Given the description of an element on the screen output the (x, y) to click on. 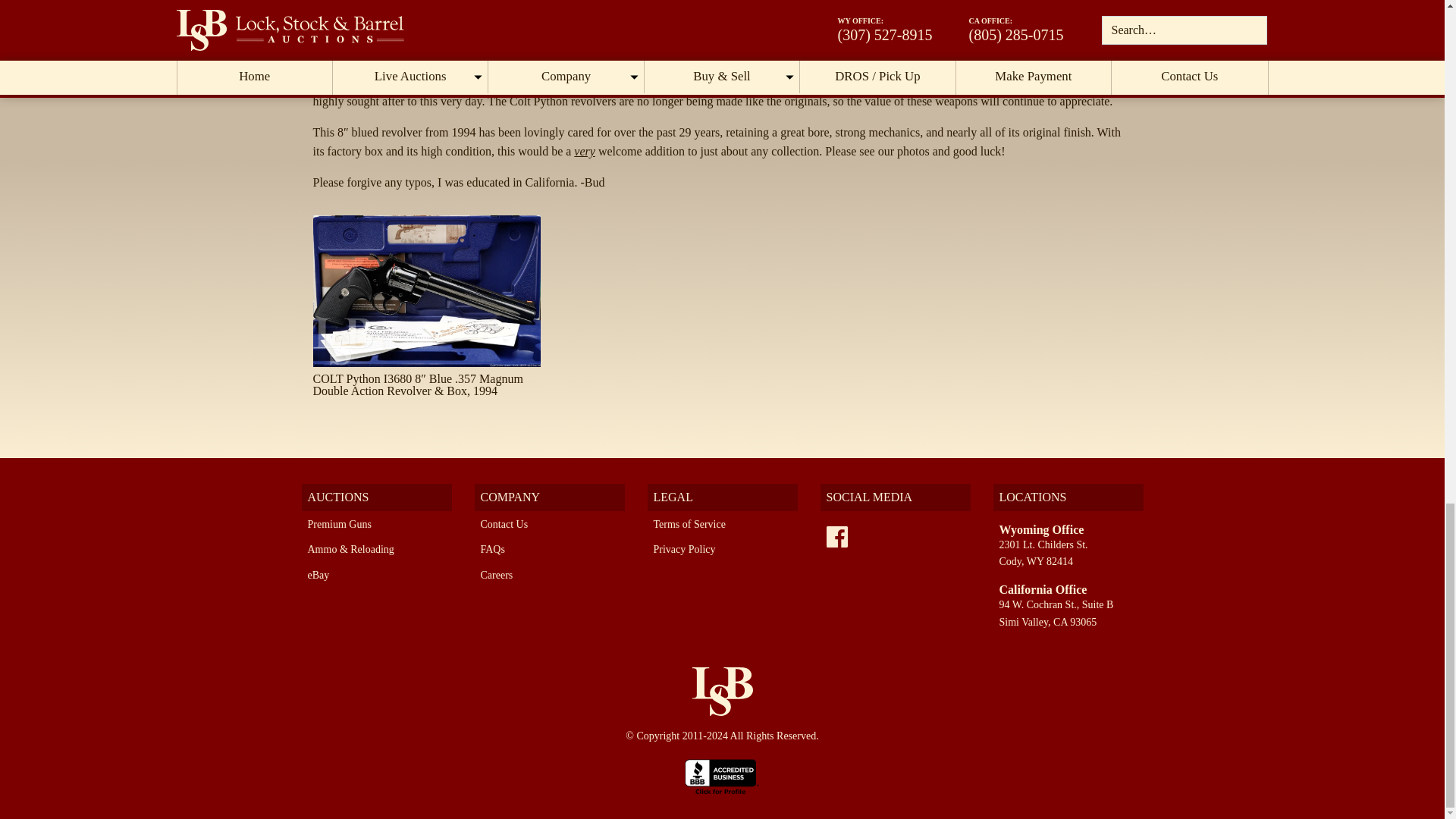
Opens a new window (837, 536)
Careers (496, 574)
eBay (318, 574)
FAQs (492, 549)
Premium Guns (339, 523)
Terms of Service (689, 523)
Opens a new window (722, 775)
Privacy Policy (684, 549)
Business Review of Lock, Stock and Barrel Investments (722, 775)
Contact Us (504, 523)
